Given the description of an element on the screen output the (x, y) to click on. 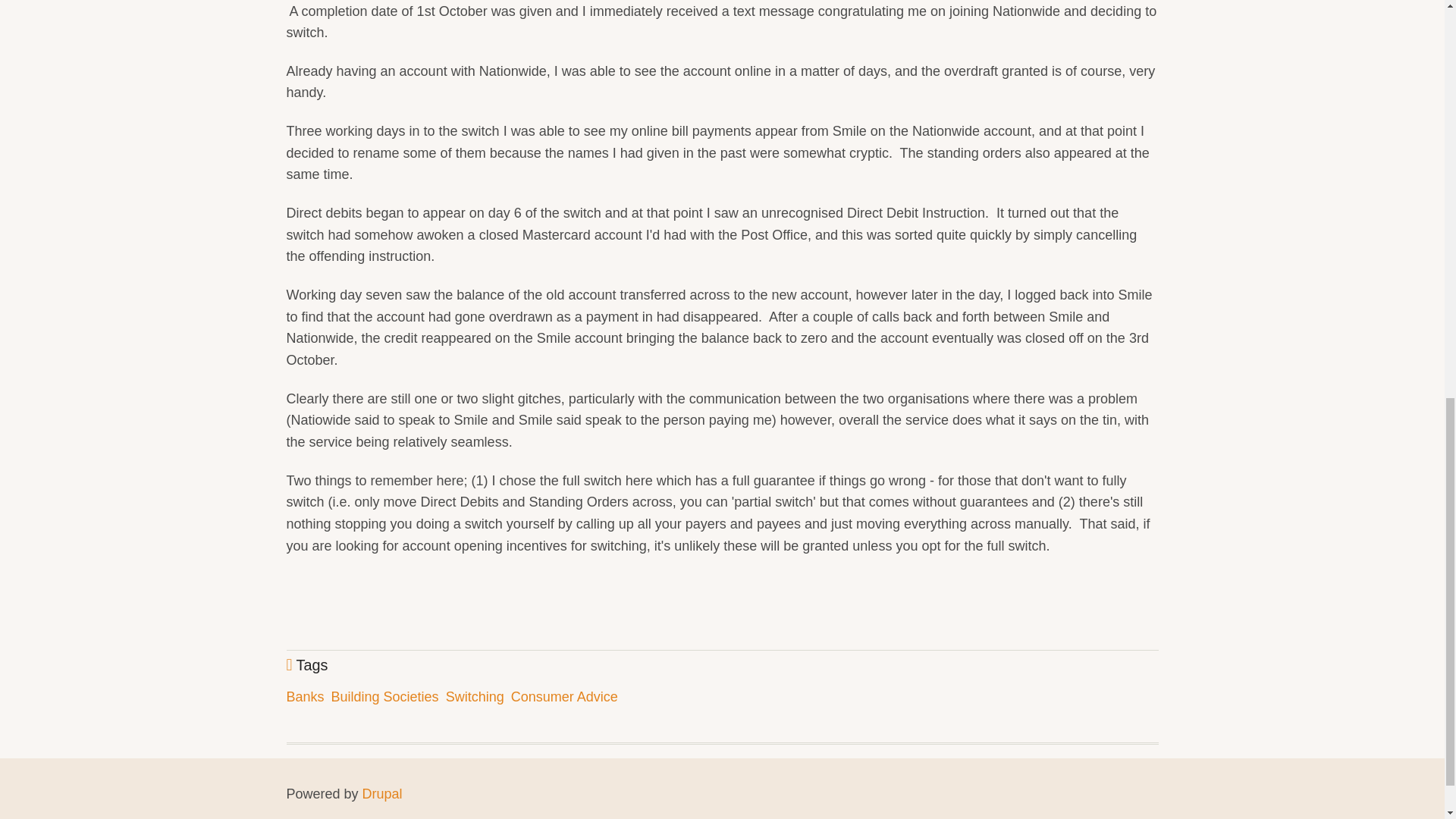
Switching (474, 696)
Banks (305, 696)
Building Societies (385, 696)
Consumer Advice (564, 696)
